Given the description of an element on the screen output the (x, y) to click on. 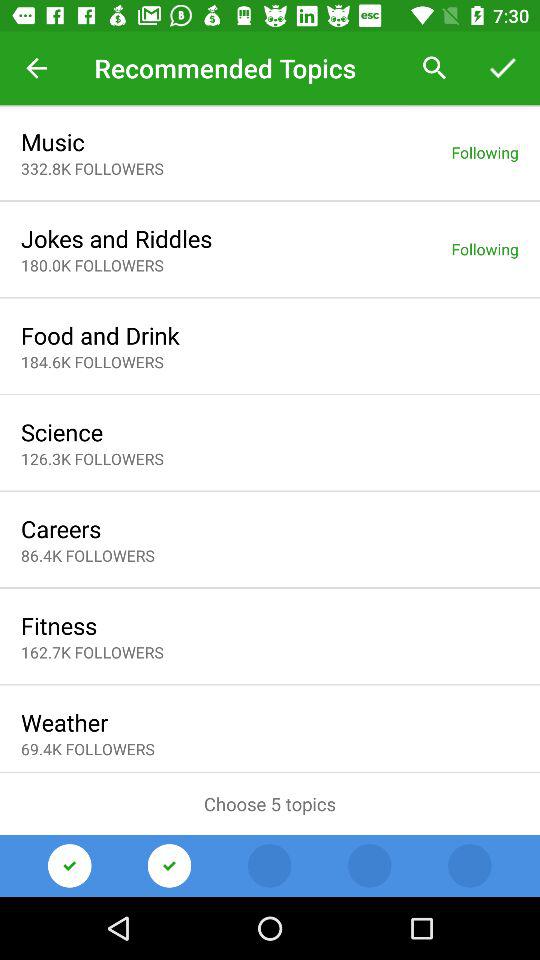
turn on icon to the left of the recommended topics (36, 68)
